Given the description of an element on the screen output the (x, y) to click on. 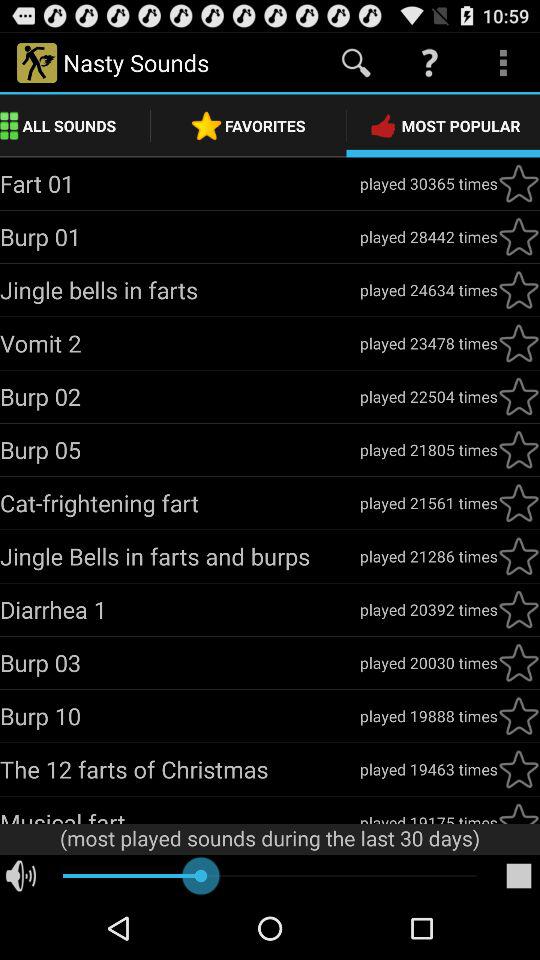
favorite sound (519, 396)
